Given the description of an element on the screen output the (x, y) to click on. 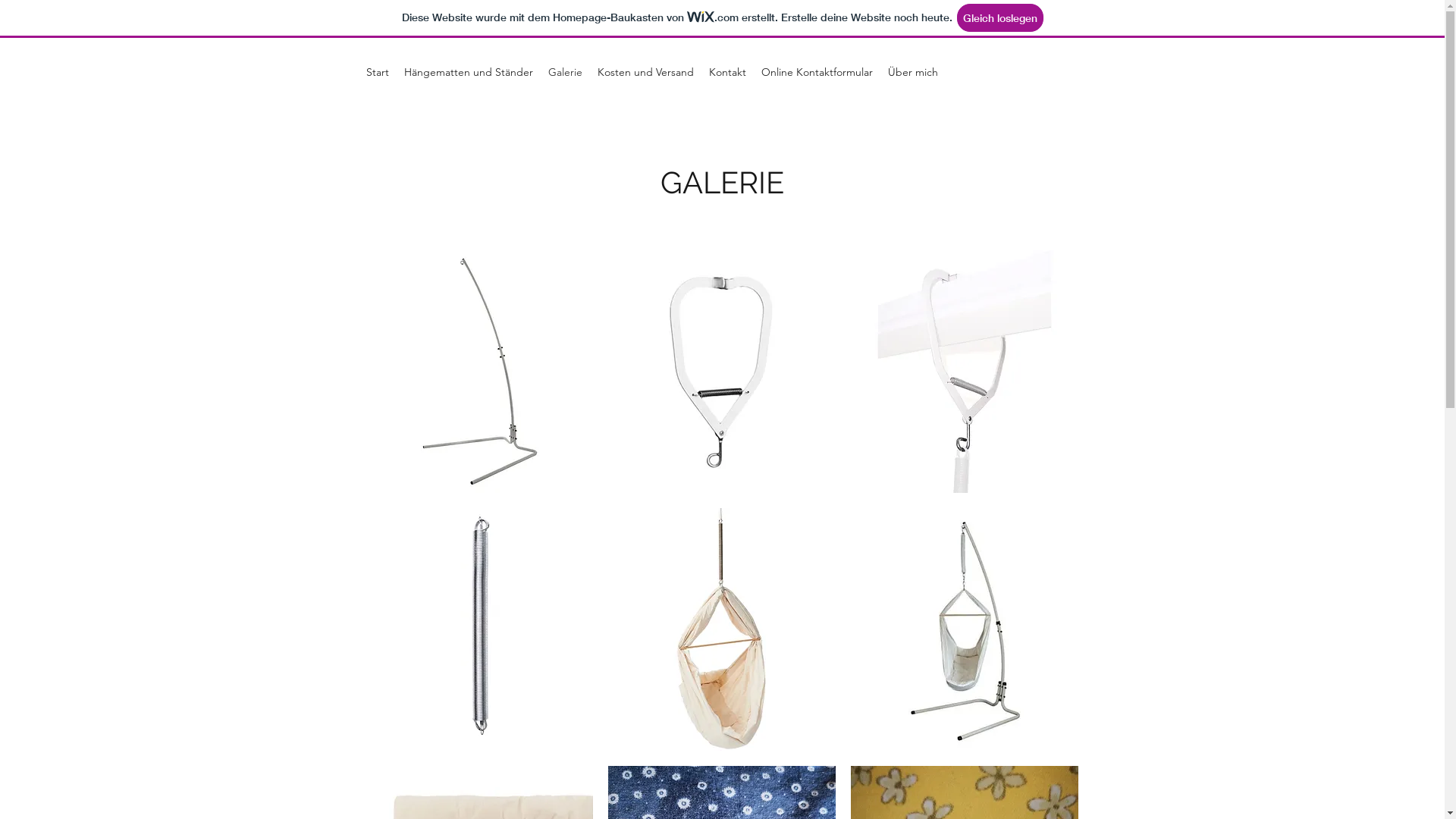
Galerie Element type: text (564, 71)
Online Kontaktformular Element type: text (816, 71)
Kosten und Versand Element type: text (645, 71)
Start Element type: text (376, 71)
Kontakt Element type: text (726, 71)
